Given the description of an element on the screen output the (x, y) to click on. 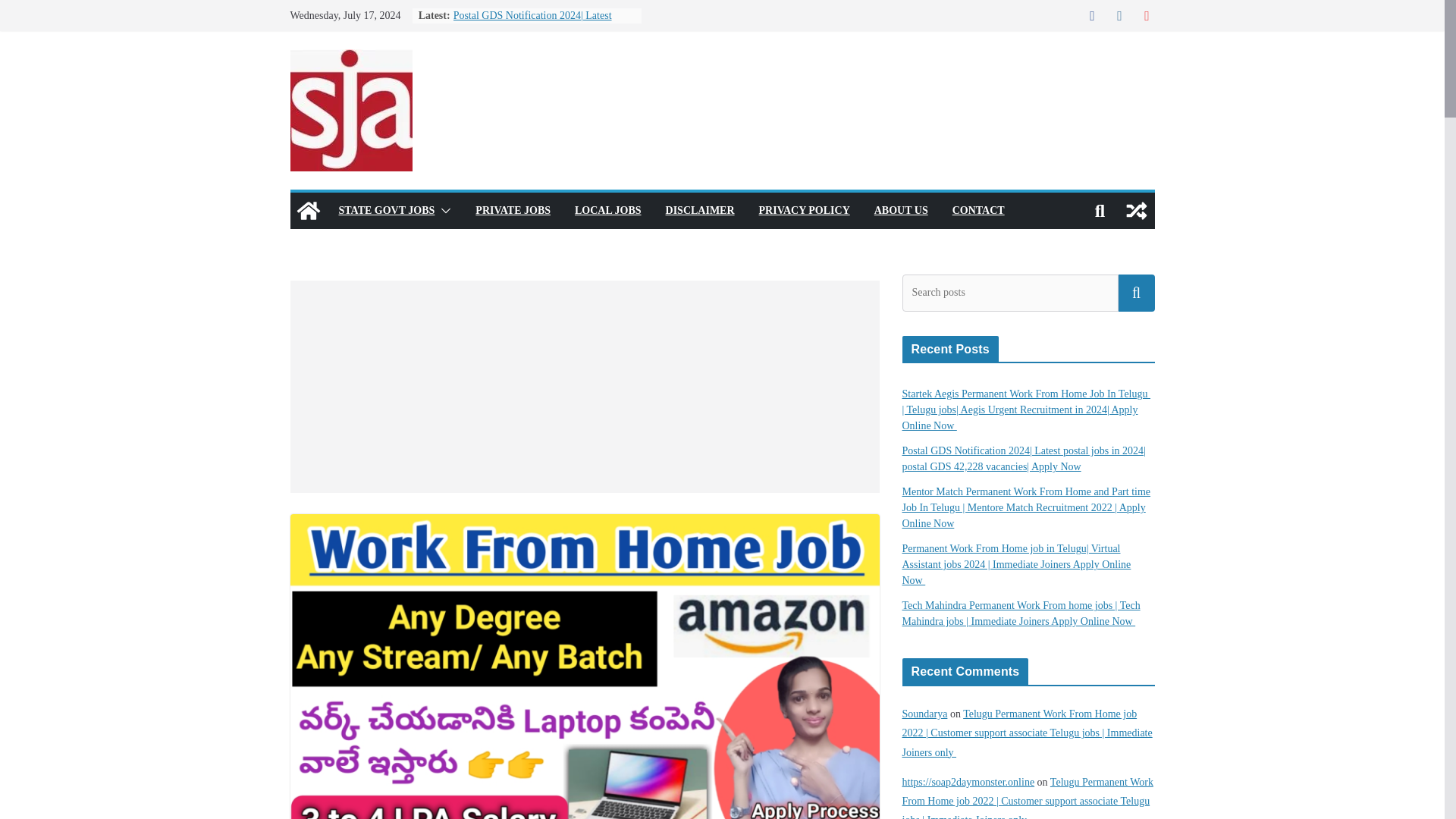
Search (1136, 292)
SJA Jobs Info (307, 210)
ABOUT US (901, 210)
DISCLAIMER (700, 210)
STATE GOVT JOBS (385, 210)
LOCAL JOBS (608, 210)
PRIVACY POLICY (804, 210)
View a random post (1136, 210)
CONTACT (978, 210)
PRIVATE JOBS (513, 210)
Advertisement (584, 386)
